Given the description of an element on the screen output the (x, y) to click on. 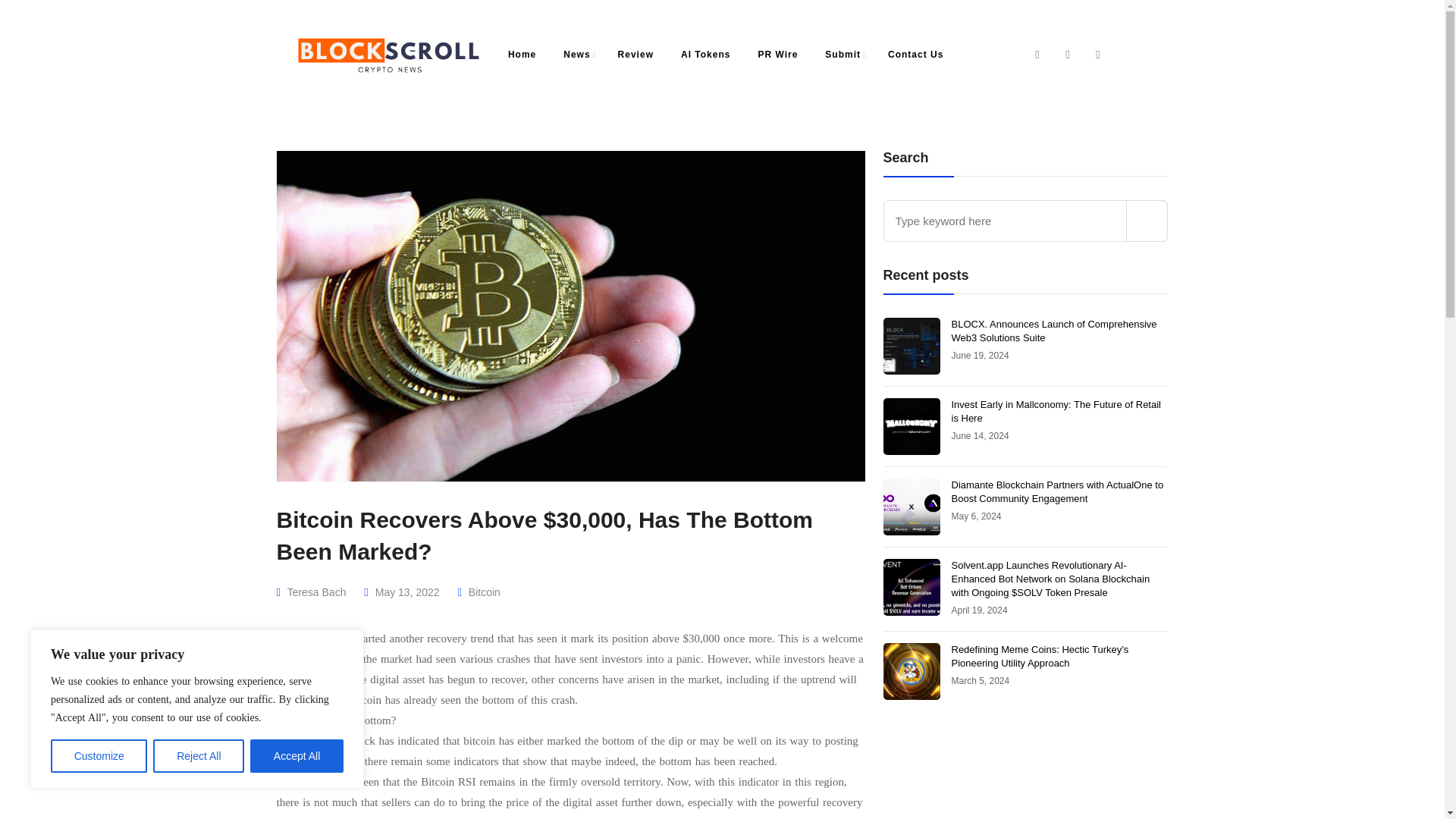
Invest Early in Mallconomy: The Future of Retail is Here (1055, 411)
Home (522, 54)
Contact Us (915, 54)
Review (635, 54)
PR Wire (777, 54)
AI Tokens (705, 54)
1:05 pm (975, 516)
4:31 am (979, 680)
10:42 am (979, 435)
Customize (98, 756)
Accept All (296, 756)
Posts by Teresa Bach (316, 592)
Reject All (198, 756)
